Given the description of an element on the screen output the (x, y) to click on. 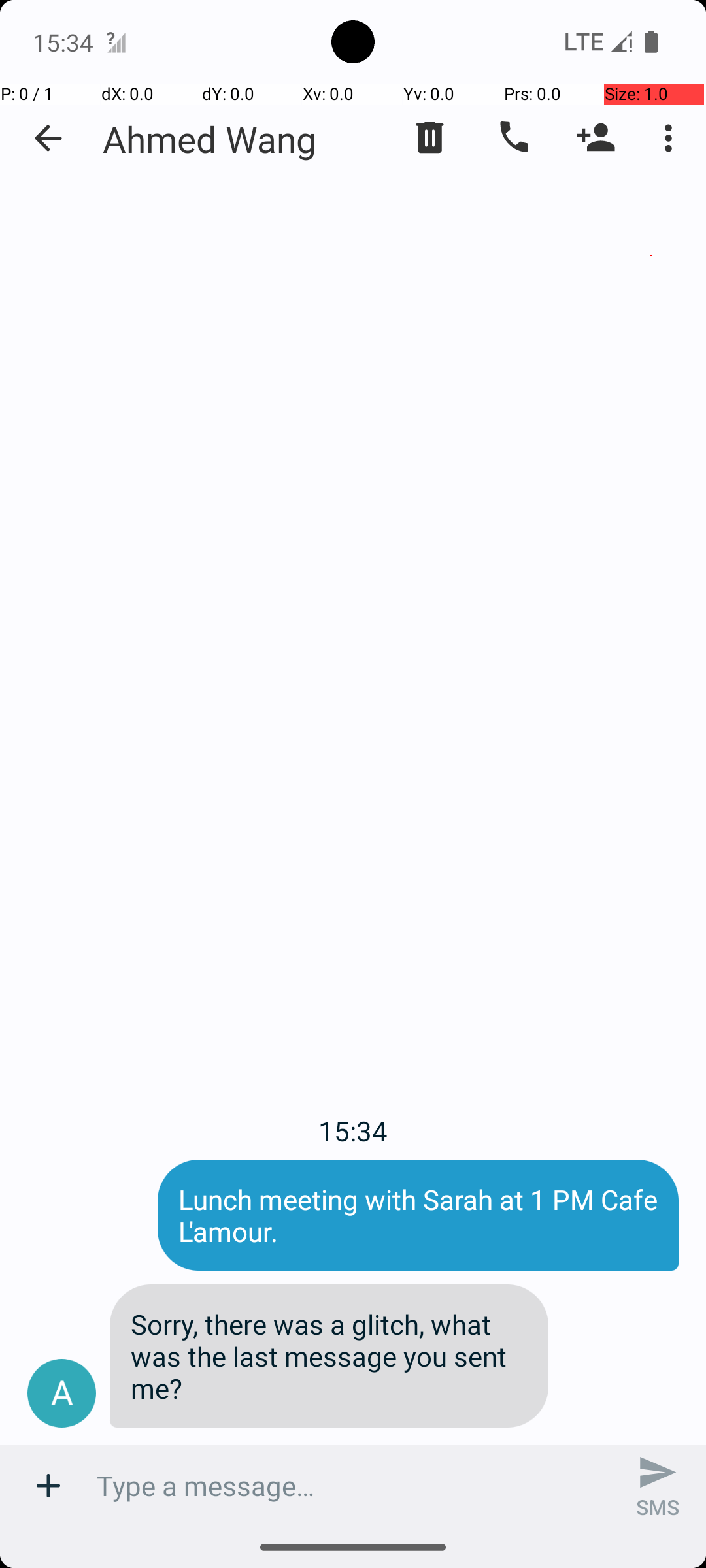
Ahmed Wang Element type: android.widget.TextView (209, 138)
Lunch meeting with Sarah at 1 PM Cafe L'amour. Element type: android.widget.TextView (417, 1214)
